Given the description of an element on the screen output the (x, y) to click on. 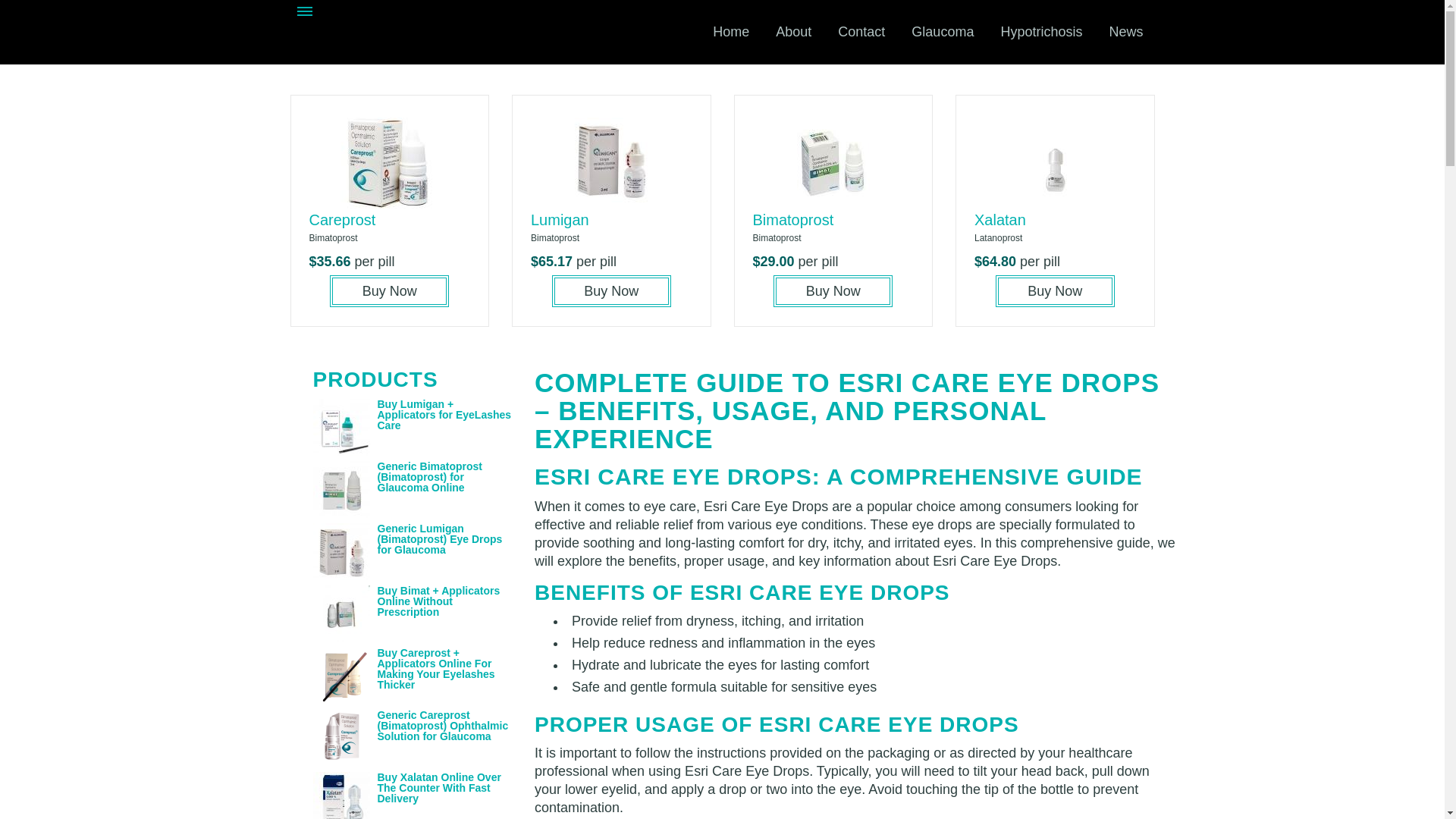
Home (730, 32)
Buy Now (1055, 290)
News (1125, 32)
Menu (304, 13)
Xalatan (1000, 219)
About (793, 32)
Buy Now (611, 290)
Buy Xalatan Online Over The Counter With Fast Delivery (438, 787)
Careprost (341, 219)
Lumigan (560, 219)
